Given the description of an element on the screen output the (x, y) to click on. 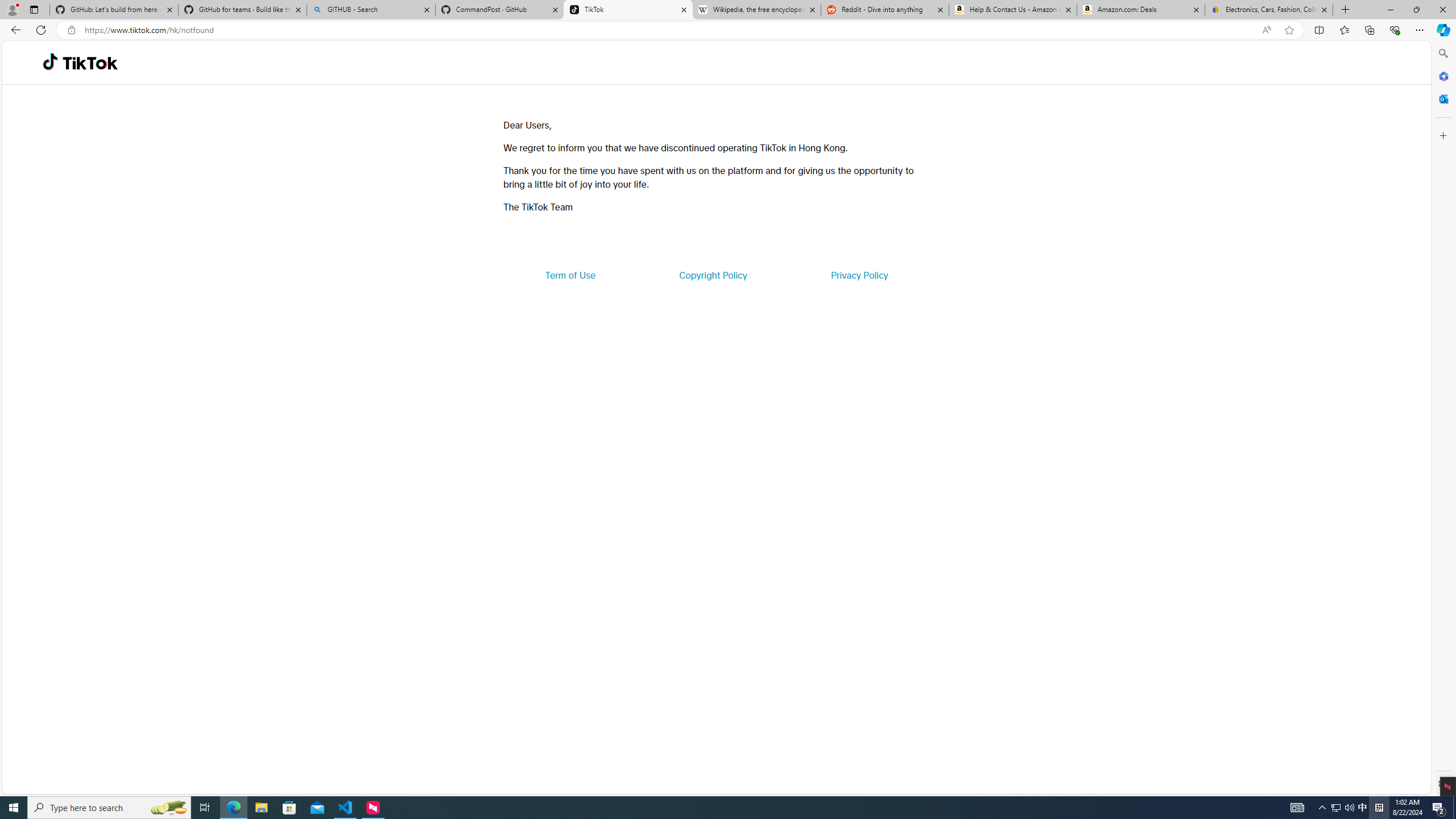
Copyright Policy (712, 274)
Help & Contact Us - Amazon Customer Service (1012, 9)
Electronics, Cars, Fashion, Collectibles & More | eBay (1268, 9)
Term of Use (569, 274)
TikTok (628, 9)
